Given the description of an element on the screen output the (x, y) to click on. 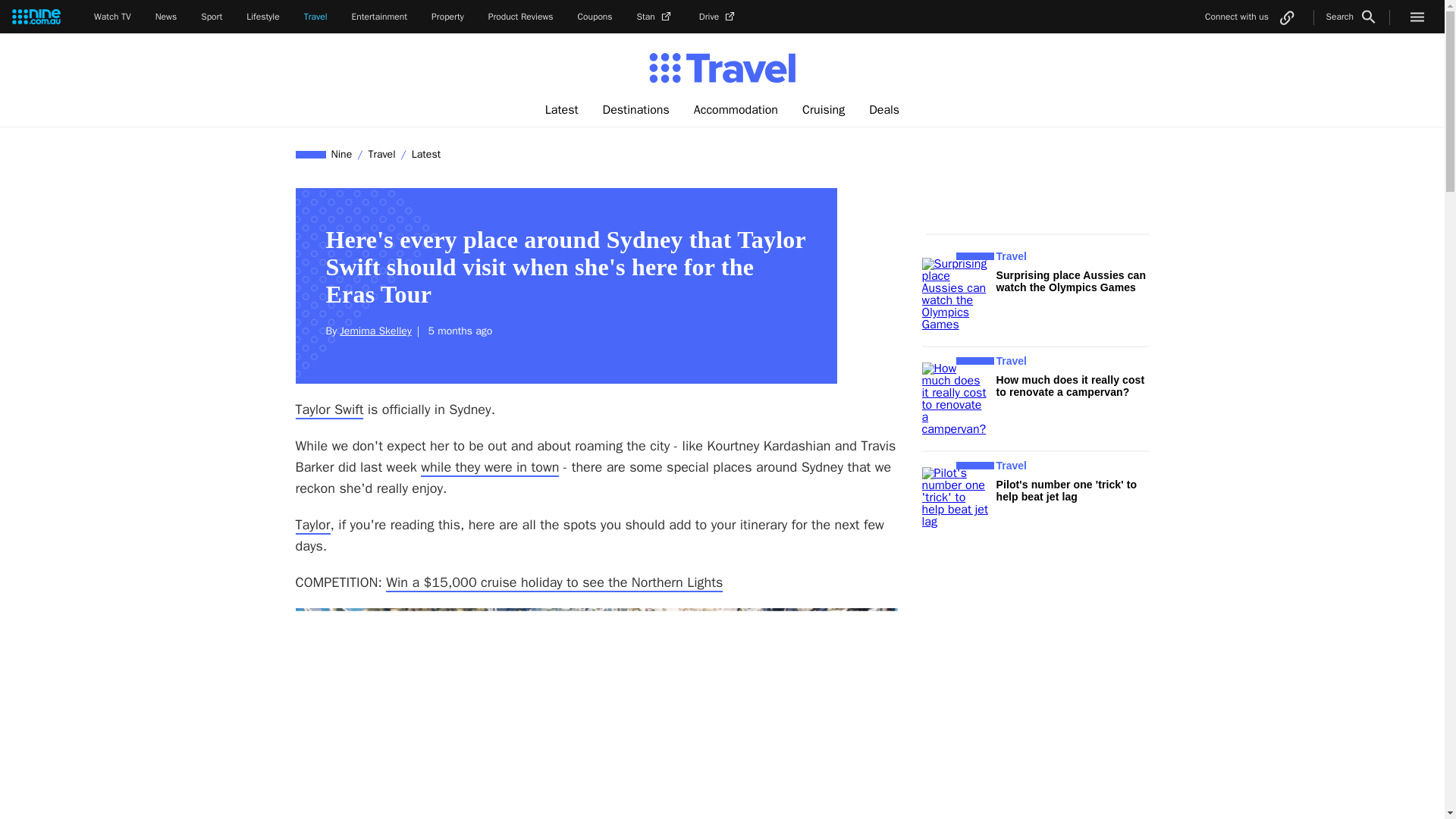
Destinations (636, 109)
Accommodation (735, 109)
Product Reviews (520, 16)
Travel (381, 154)
Nine (342, 154)
Cruising (823, 109)
Taylor (312, 525)
while they were in town (489, 467)
Latest (561, 109)
2024-02-19 02:21 (458, 330)
Deals (884, 109)
Lifestyle (262, 16)
Drive (718, 16)
Entertainment (379, 16)
Taylor (312, 525)
